Given the description of an element on the screen output the (x, y) to click on. 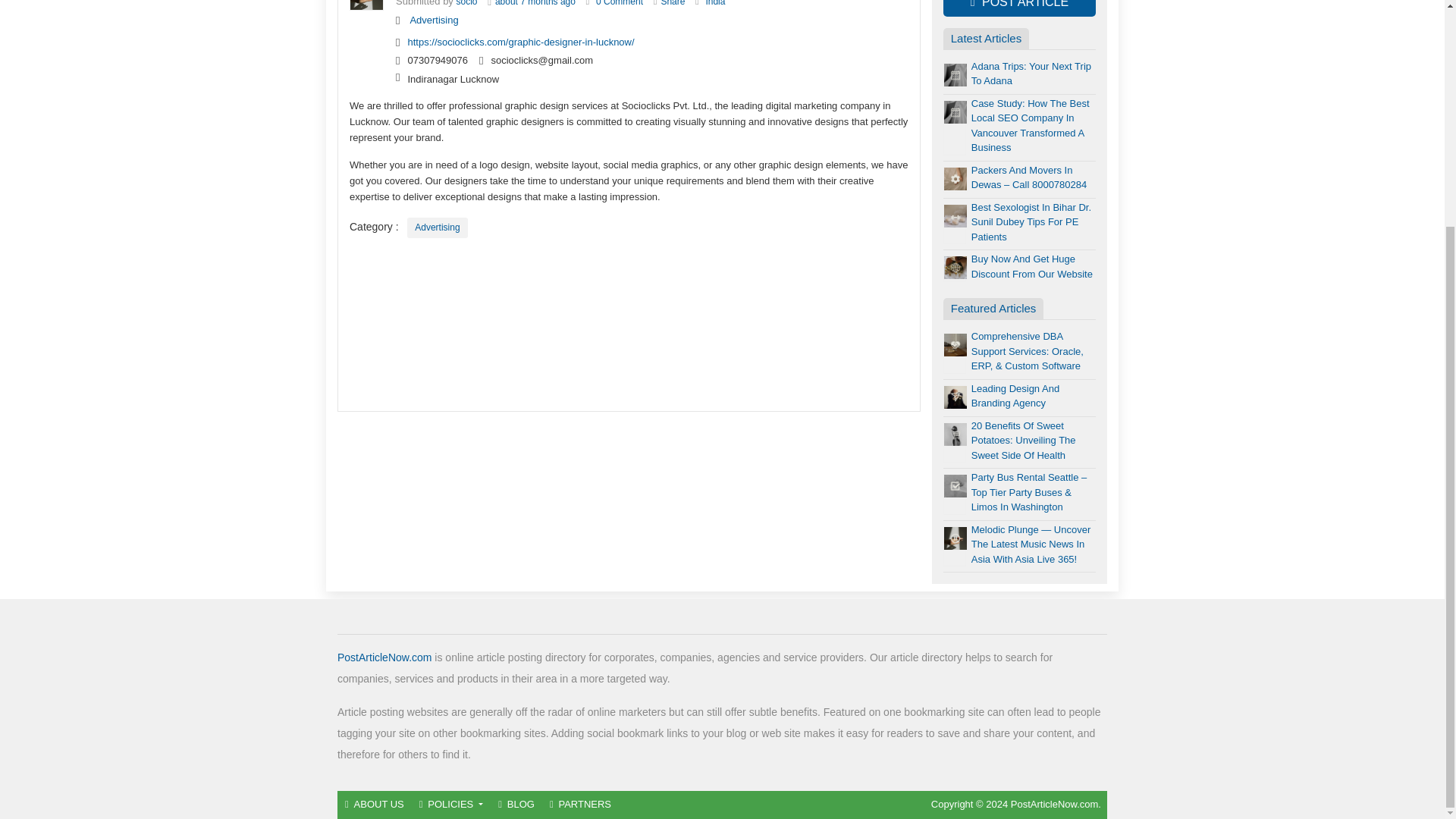
POST ARTICLE (1019, 8)
Share (672, 3)
Advertising (433, 19)
Share (672, 3)
0 Comment (619, 3)
socio (467, 3)
socioclicks (467, 3)
Best Graphic designing agency in Lucknow (619, 3)
India (714, 3)
Advertising (437, 227)
